Given the description of an element on the screen output the (x, y) to click on. 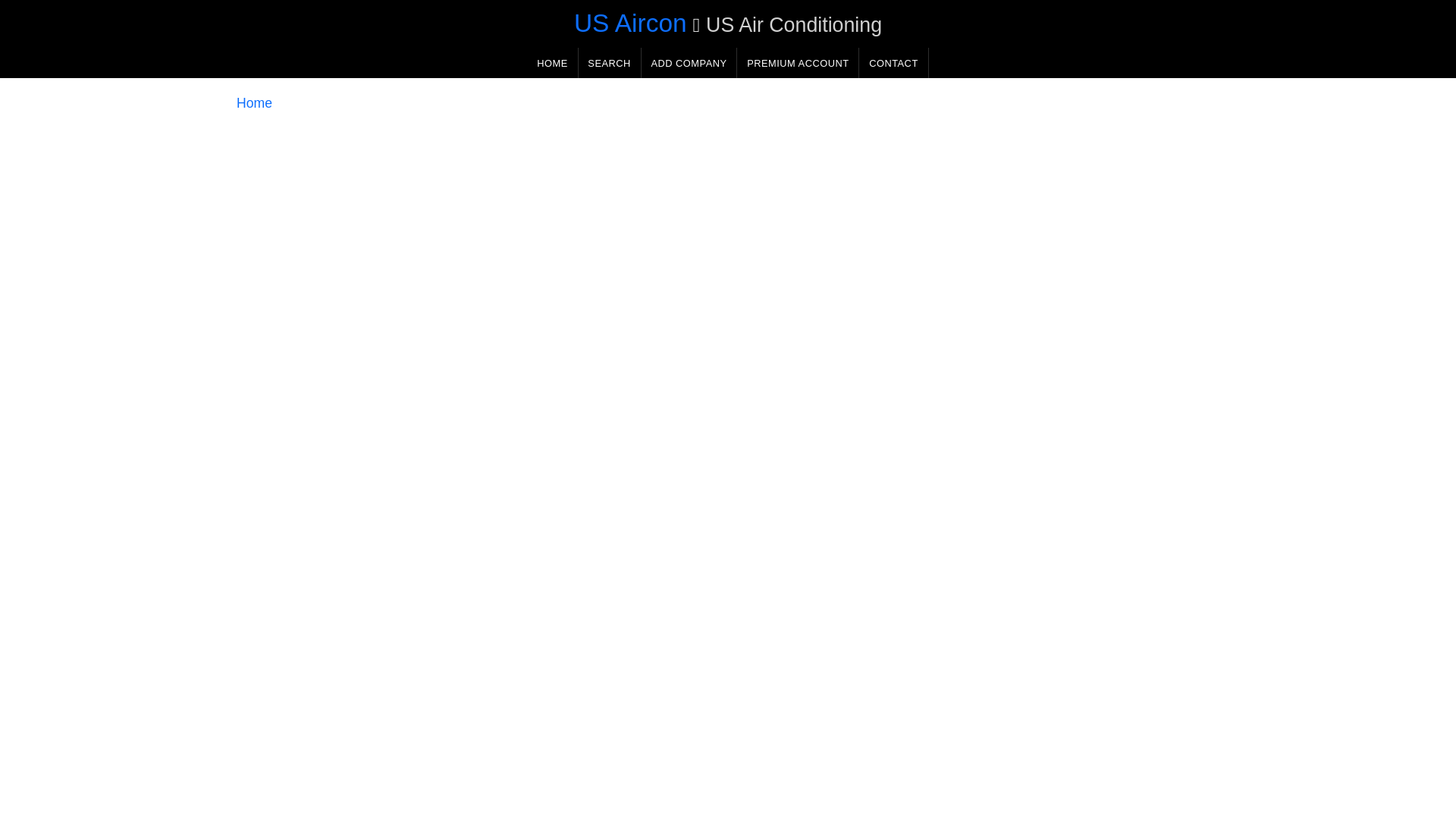
Premium account (797, 62)
Add a new company (689, 62)
ADD COMPANY (689, 62)
US Aircon (630, 22)
Home (253, 102)
CONTACT (893, 62)
SEARCH (609, 62)
HOME (551, 62)
PREMIUM ACCOUNT (797, 62)
Search in this webseite. (609, 62)
